Given the description of an element on the screen output the (x, y) to click on. 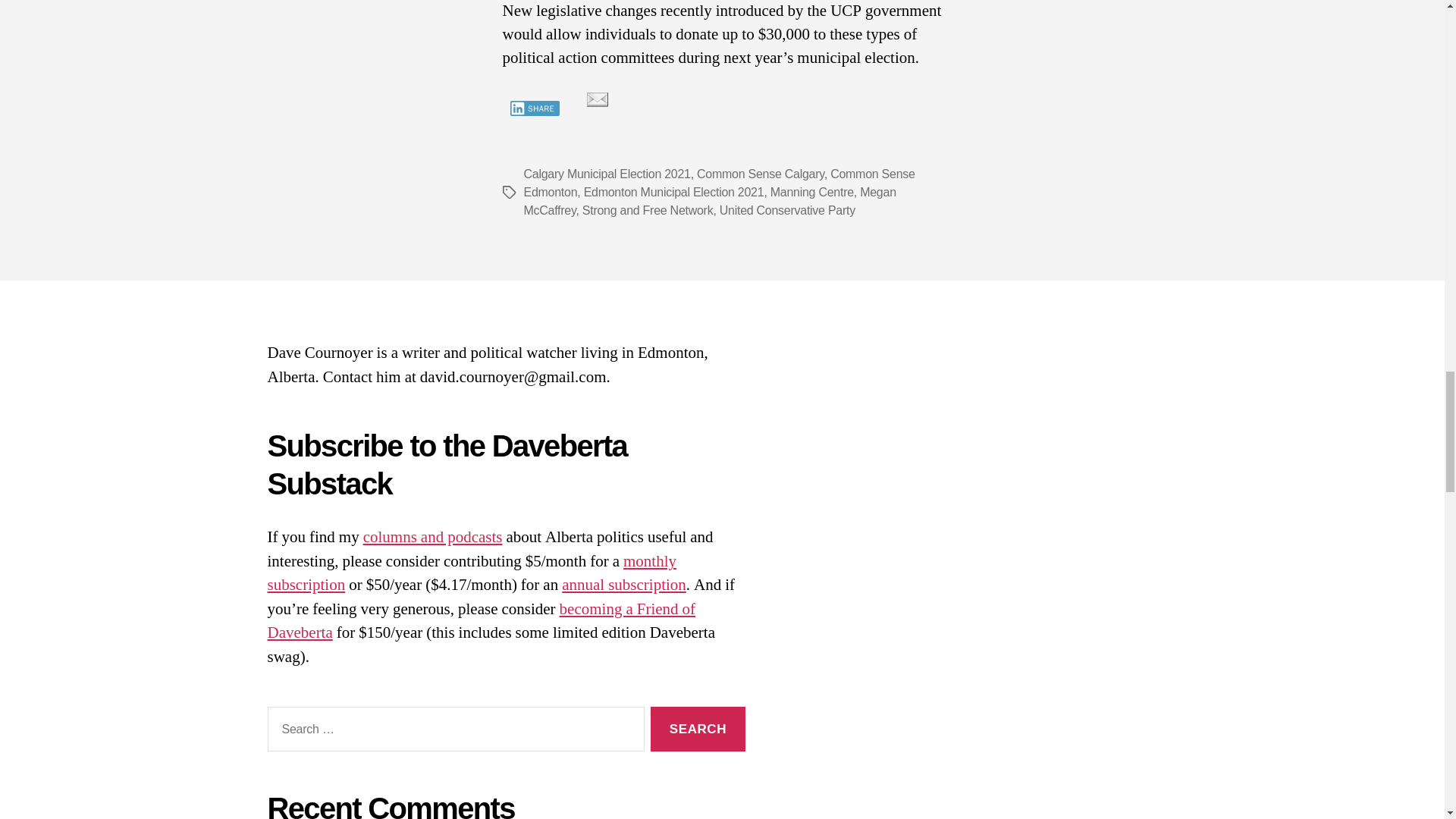
Email (596, 99)
SHARE (534, 108)
Edmonton Municipal Election 2021 (673, 192)
Calgary Municipal Election 2021 (606, 173)
Common Sense Edmonton (718, 183)
Search (697, 728)
Search (697, 728)
Common Sense Calgary (760, 173)
Manning Centre (811, 192)
